Given the description of an element on the screen output the (x, y) to click on. 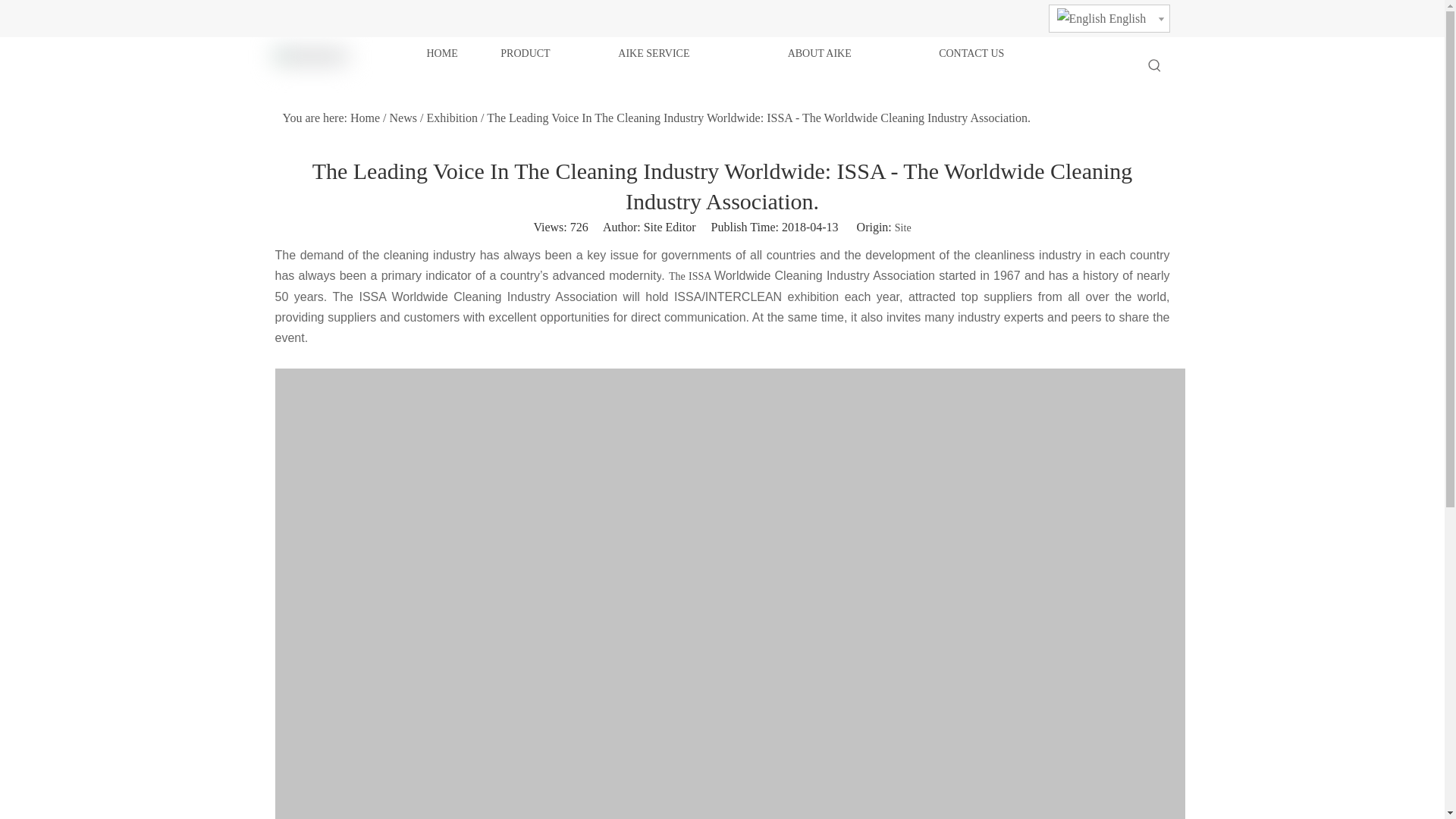
ABOUT AIKE (863, 54)
130x48LOGO (311, 56)
HOME (463, 54)
AIKE SERVICE (702, 54)
PRODUCT (558, 54)
CONTACT US (1016, 54)
